Given the description of an element on the screen output the (x, y) to click on. 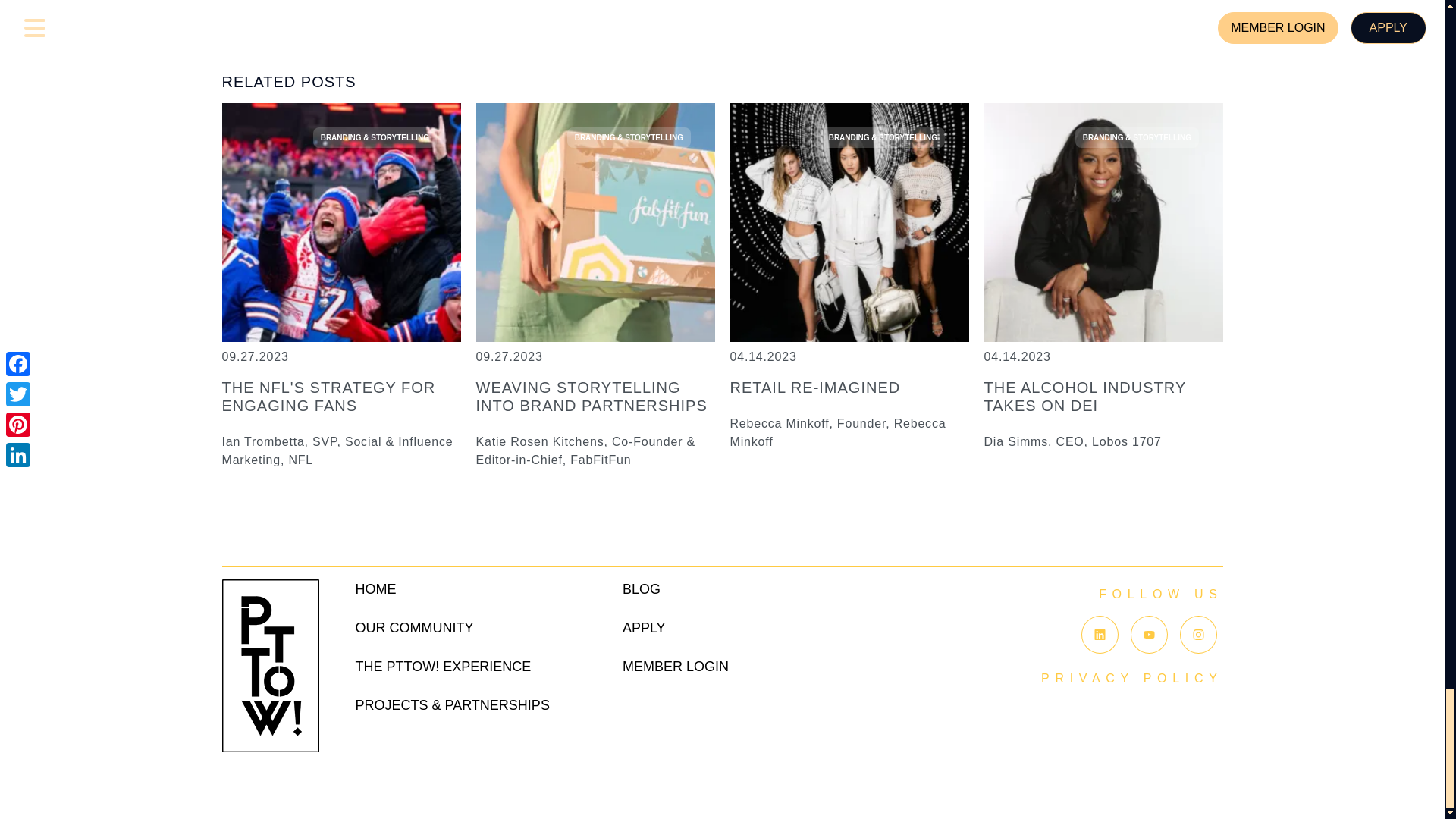
OUR COMMUNITY (414, 627)
APPLY (644, 627)
BLOG (642, 589)
PRIVACY POLICY (1132, 677)
HOME (375, 589)
MEMBER LOGIN (676, 666)
FOLLOW US (1161, 594)
THE PTTOW! EXPERIENCE (443, 666)
